Given the description of an element on the screen output the (x, y) to click on. 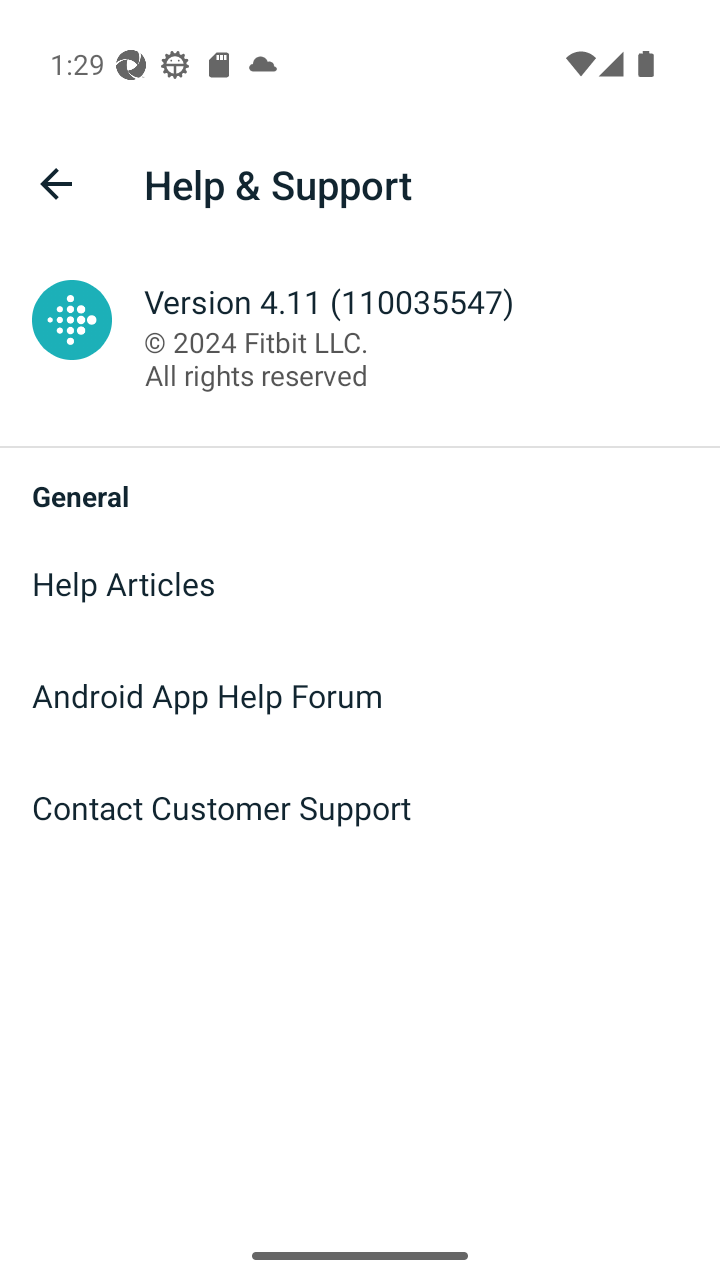
Navigate up (56, 184)
Help Articles (360, 583)
Android App Help Forum (360, 696)
Contact Customer Support (360, 808)
